Given the description of an element on the screen output the (x, y) to click on. 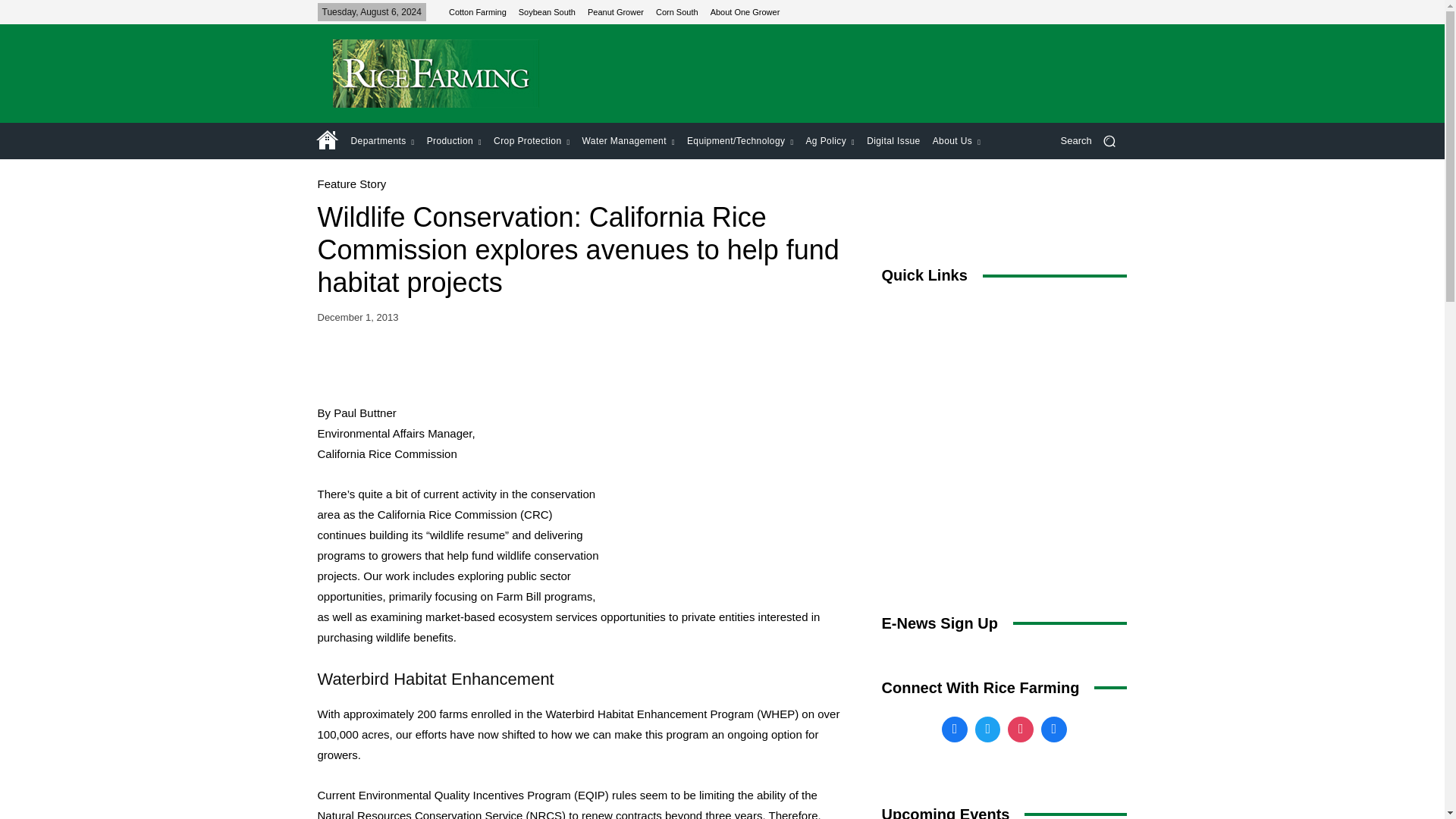
About One Grower (745, 11)
Production (453, 140)
Departments (381, 140)
Cotton Farming (477, 11)
Rice Farming Header Logo (435, 73)
Corn South (677, 11)
Peanut Grower (615, 11)
Soybean South (546, 11)
